Given the description of an element on the screen output the (x, y) to click on. 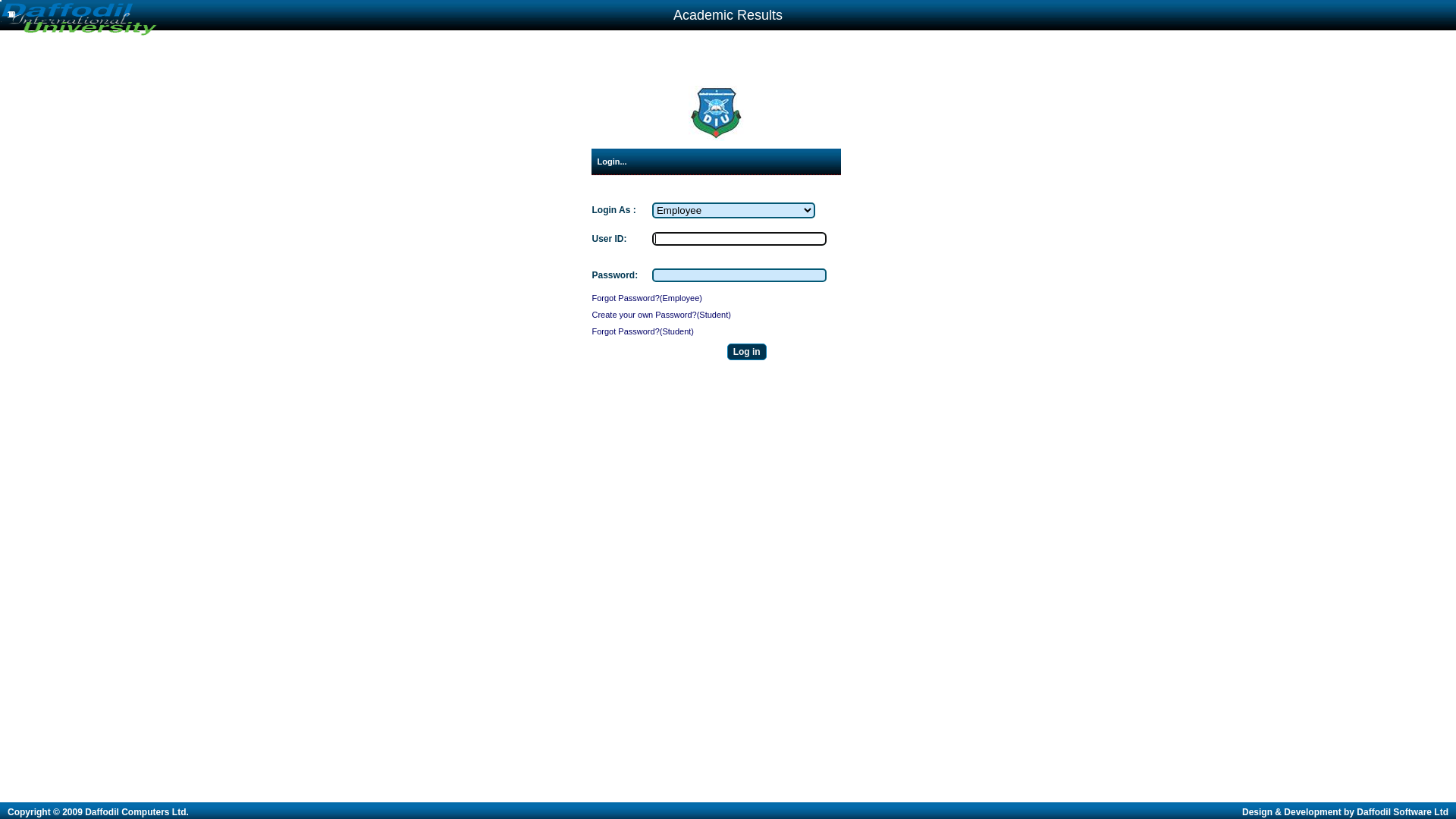
Forgot Password?(Employee) Element type: text (646, 297)
Create your own Password?(Student) Element type: text (660, 314)
Academic Results Element type: text (727, 14)
Forgot Password?(Student) Element type: text (642, 330)
Log in Element type: text (746, 351)
